Given the description of an element on the screen output the (x, y) to click on. 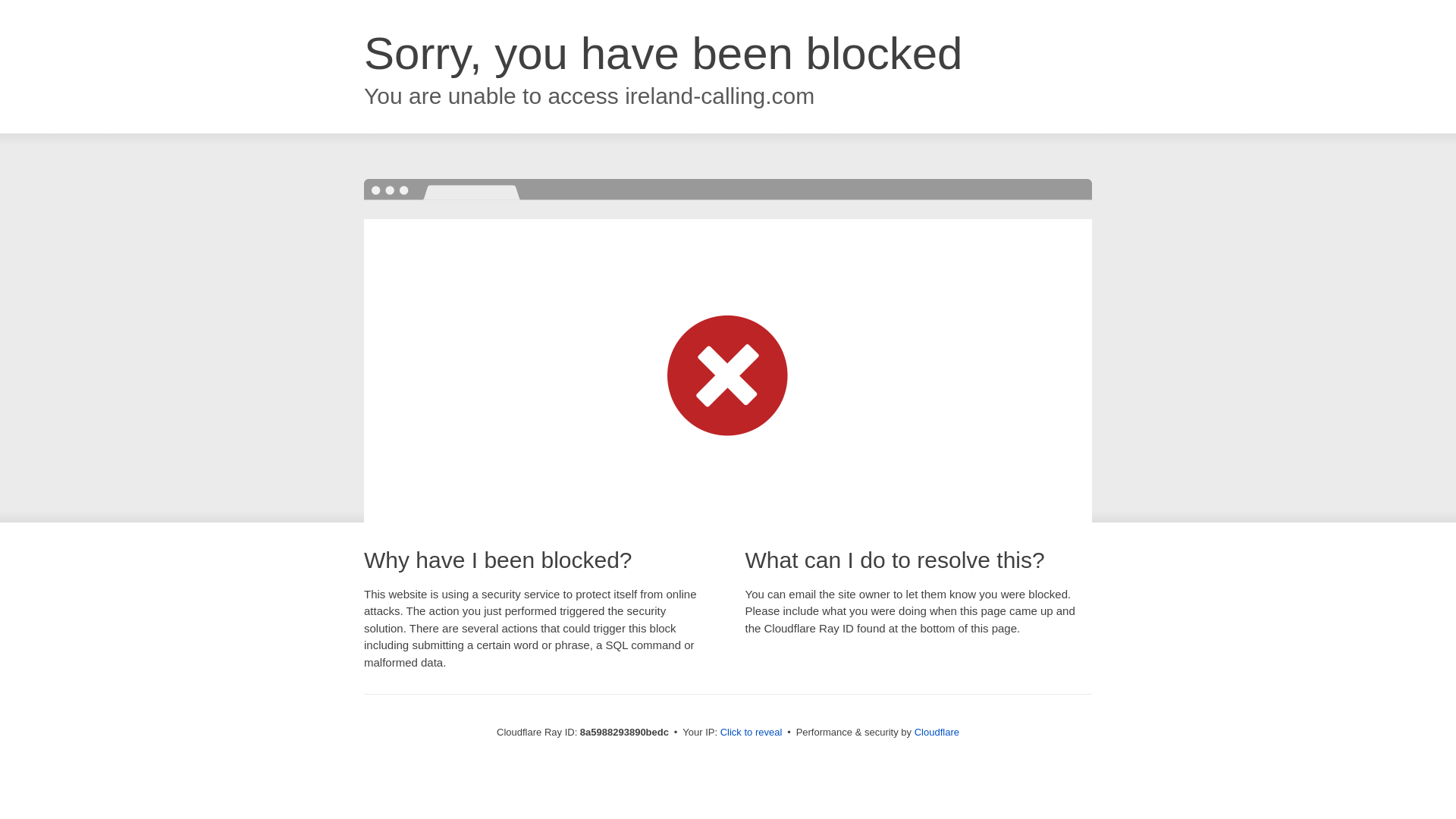
Click to reveal (751, 732)
Cloudflare (936, 731)
